Given the description of an element on the screen output the (x, y) to click on. 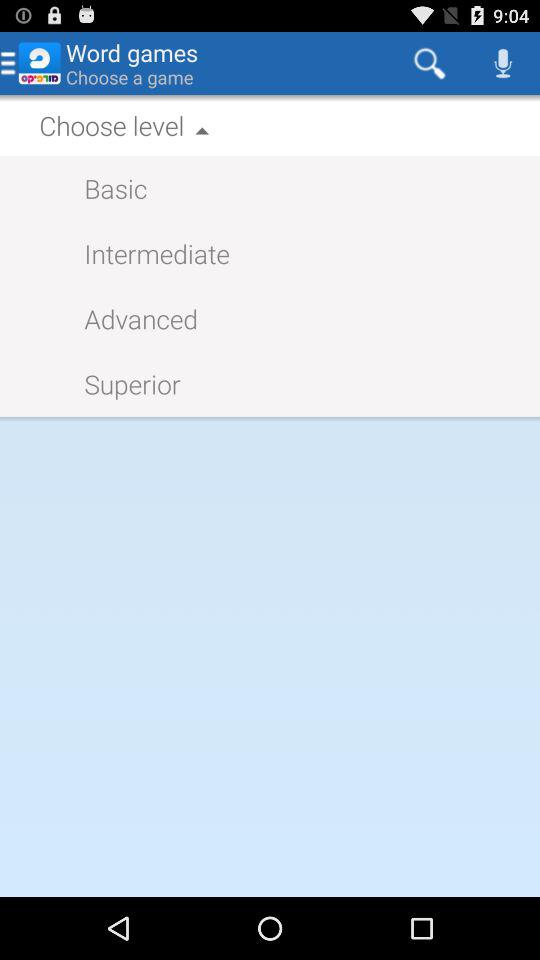
tap icon above the intermediate app (105, 187)
